Given the description of an element on the screen output the (x, y) to click on. 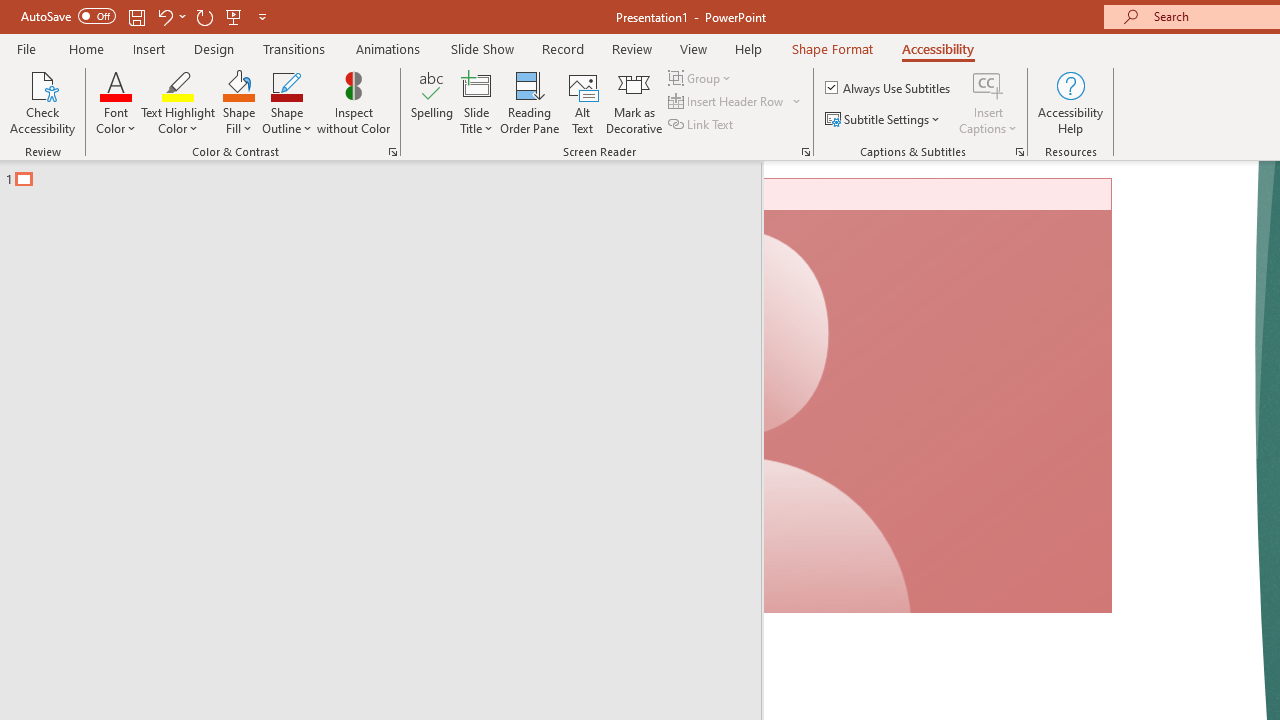
Mailings (806, 84)
Paste (60, 161)
